Given the description of an element on the screen output the (x, y) to click on. 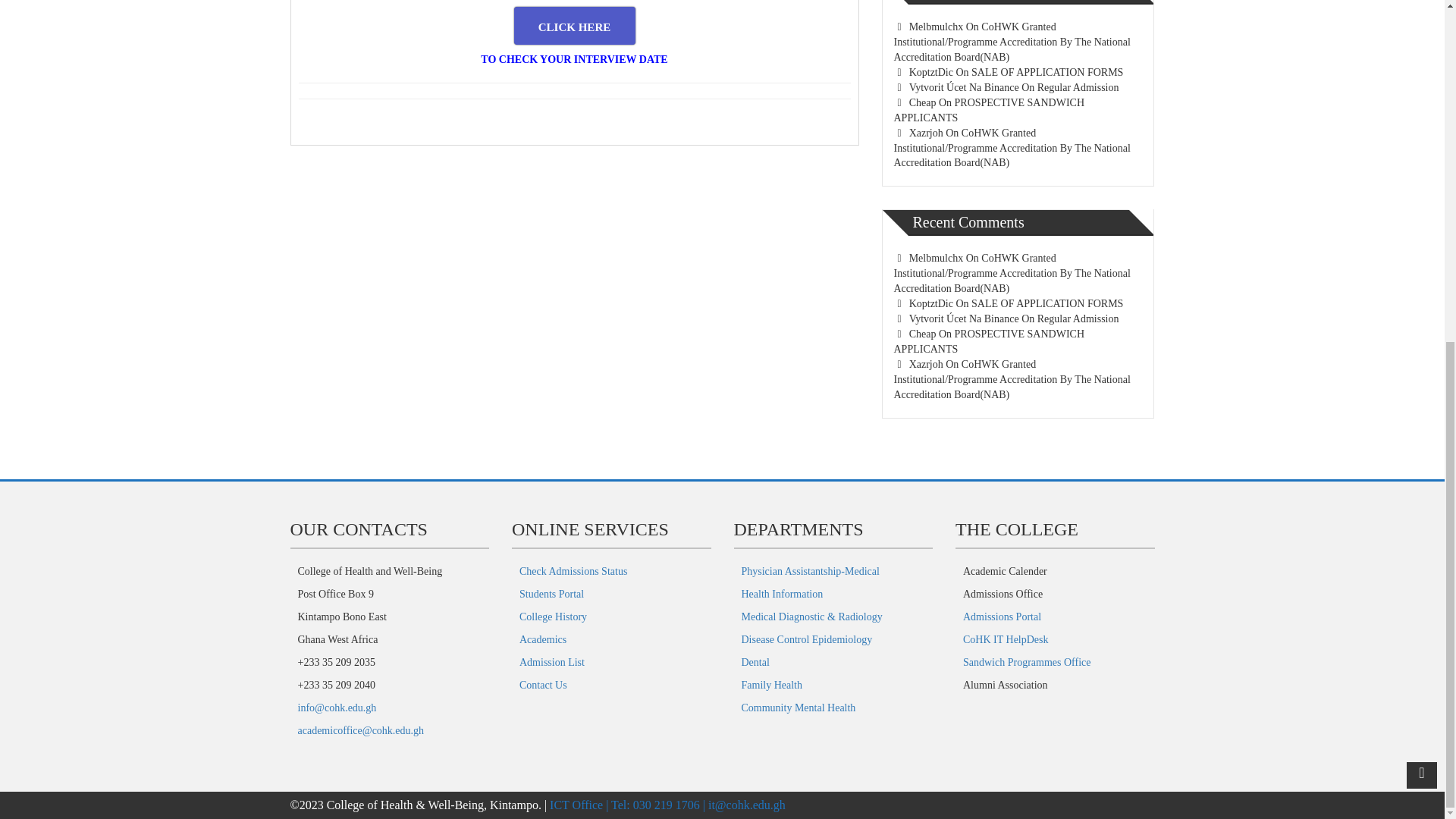
Click to download Memo (573, 25)
